Given the description of an element on the screen output the (x, y) to click on. 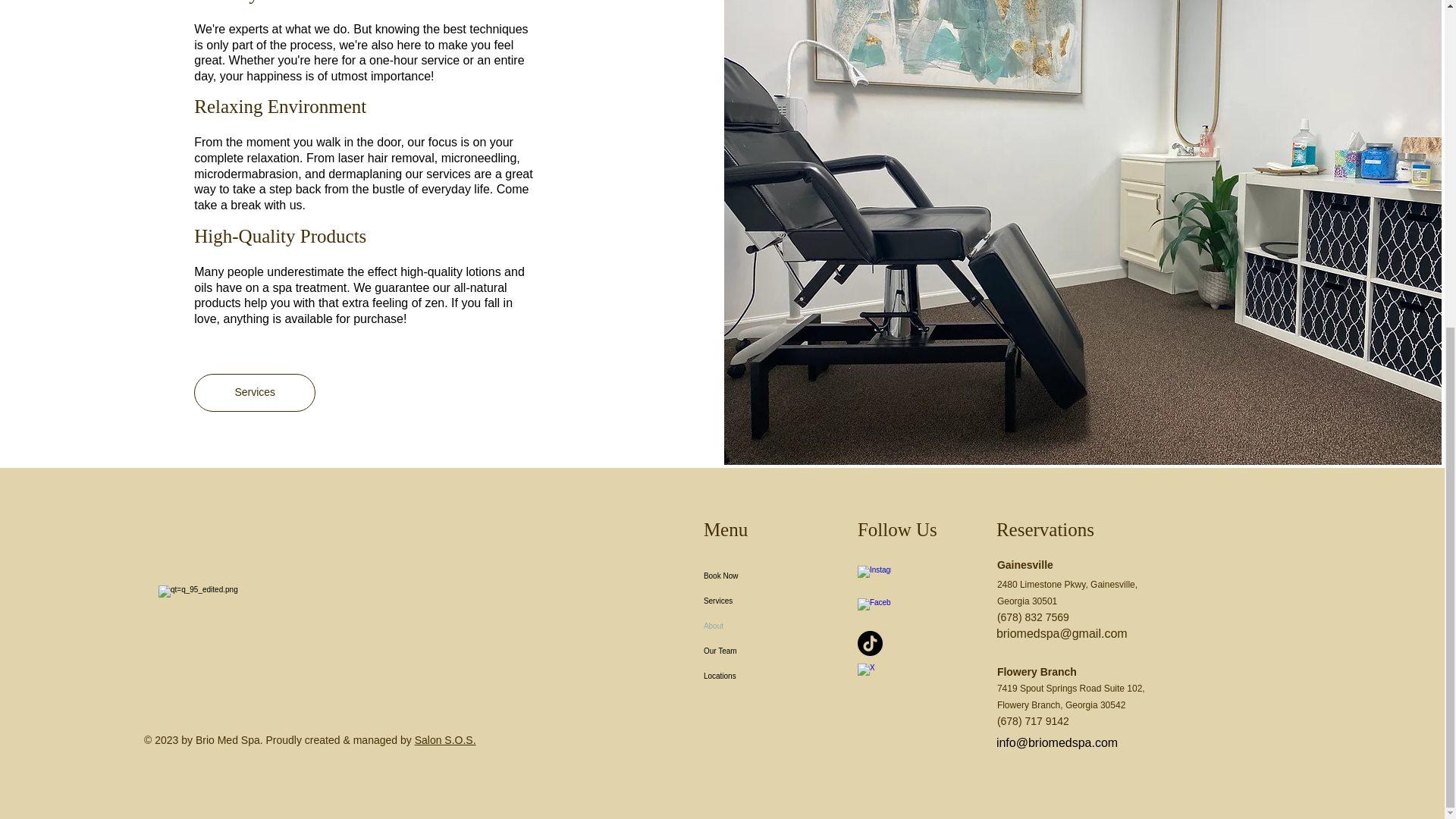
About (766, 625)
Book Now (766, 575)
Our Team (766, 650)
Services (766, 600)
Locations (766, 675)
Services (254, 392)
Salon S.O.S. (445, 739)
